Given the description of an element on the screen output the (x, y) to click on. 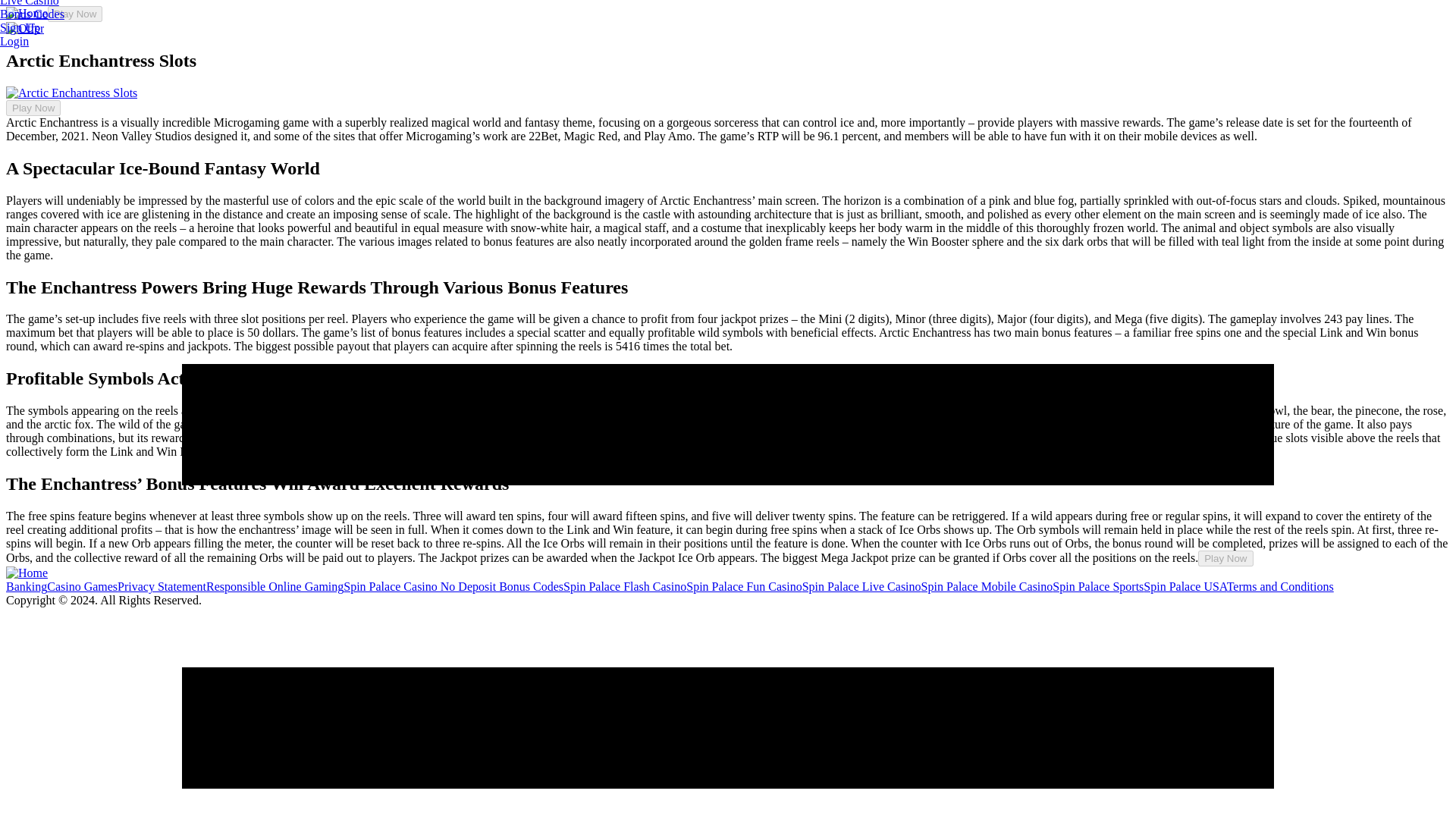
Responsible Online Gaming (274, 585)
Banking (25, 585)
Spin Palace USA (1183, 585)
Casino Games (81, 585)
Spin Palace Sports (1097, 585)
Terms and Conditions (1280, 585)
Play Now (1225, 558)
Spin Palace Mobile Casino (986, 585)
Spin Palace Fun Casino (743, 585)
Spin Palace Flash Casino (624, 585)
Privacy Statement (161, 585)
Play Now (33, 107)
Spin Palace Casino No Deposit Bonus Codes (453, 585)
Play Now (74, 13)
Spin Palace Live Casino (861, 585)
